Given the description of an element on the screen output the (x, y) to click on. 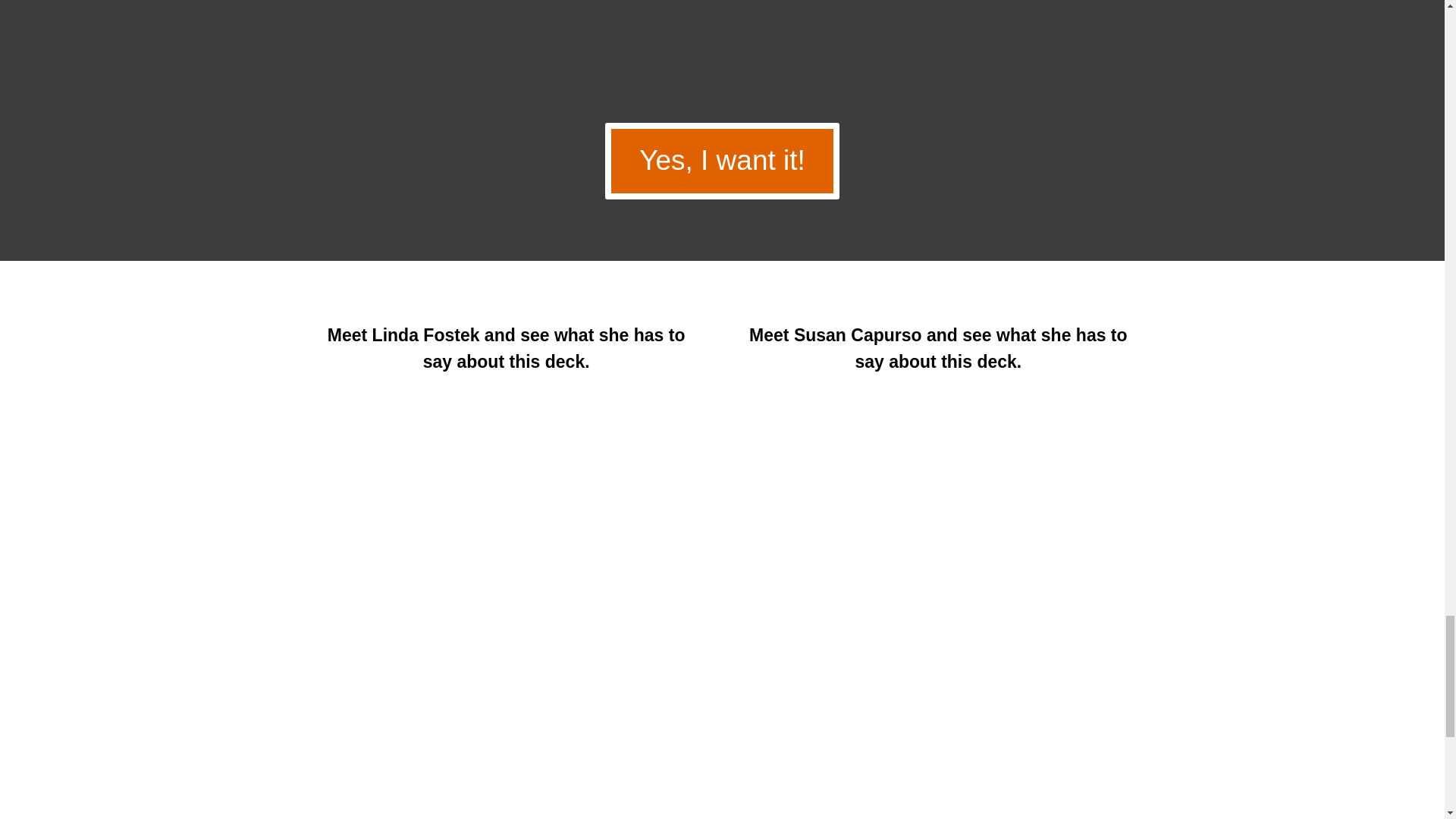
Ytps for writing a powerful book (721, 40)
Yes, I want it! (722, 160)
